Given the description of an element on the screen output the (x, y) to click on. 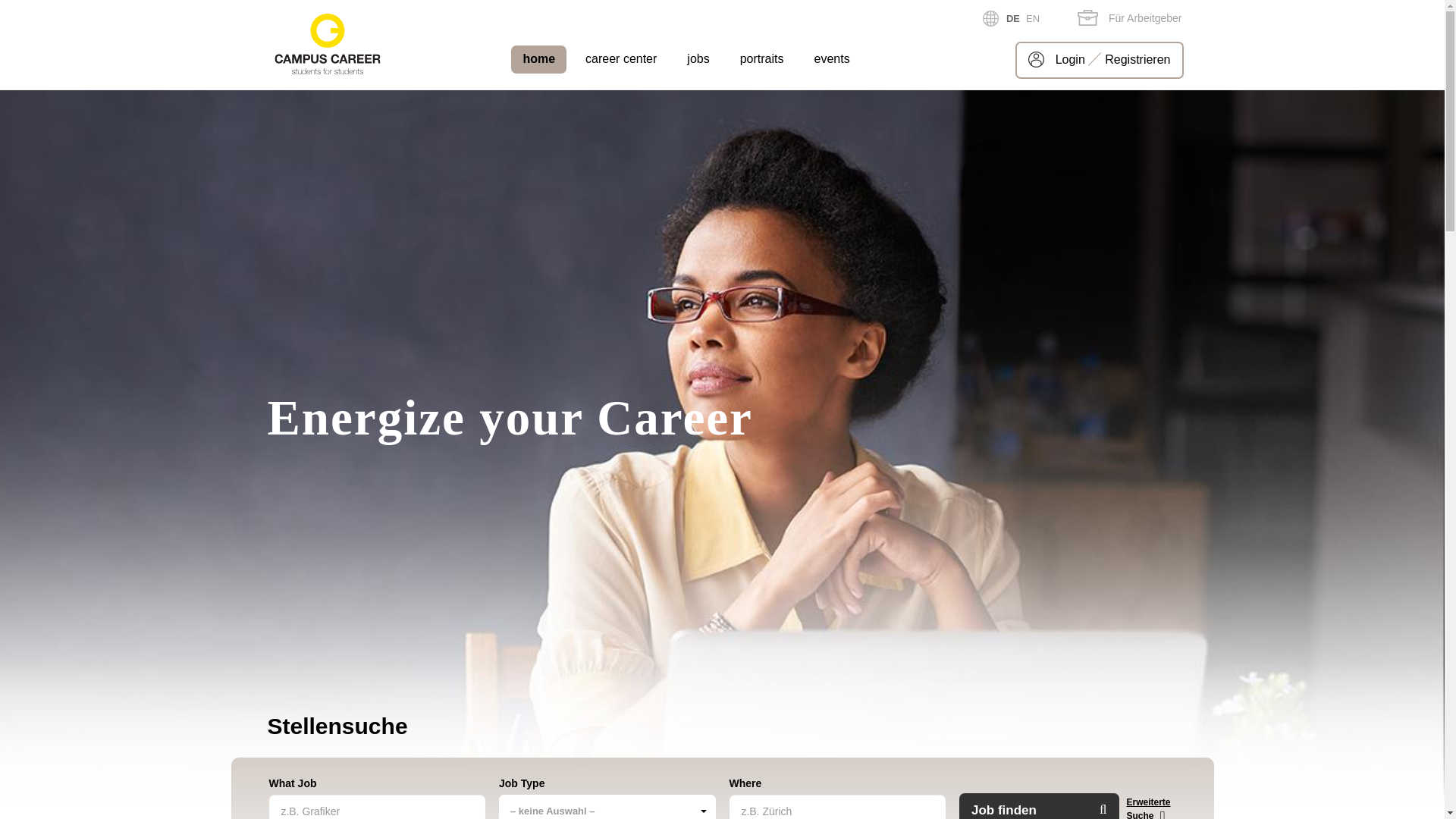
jobs Element type: text (697, 59)
DE Element type: text (1012, 18)
career center Element type: text (621, 59)
Login Registrieren Element type: text (1099, 59)
home Element type: text (538, 59)
events Element type: text (831, 59)
portraits Element type: text (761, 59)
EN Element type: text (1032, 18)
